Given the description of an element on the screen output the (x, y) to click on. 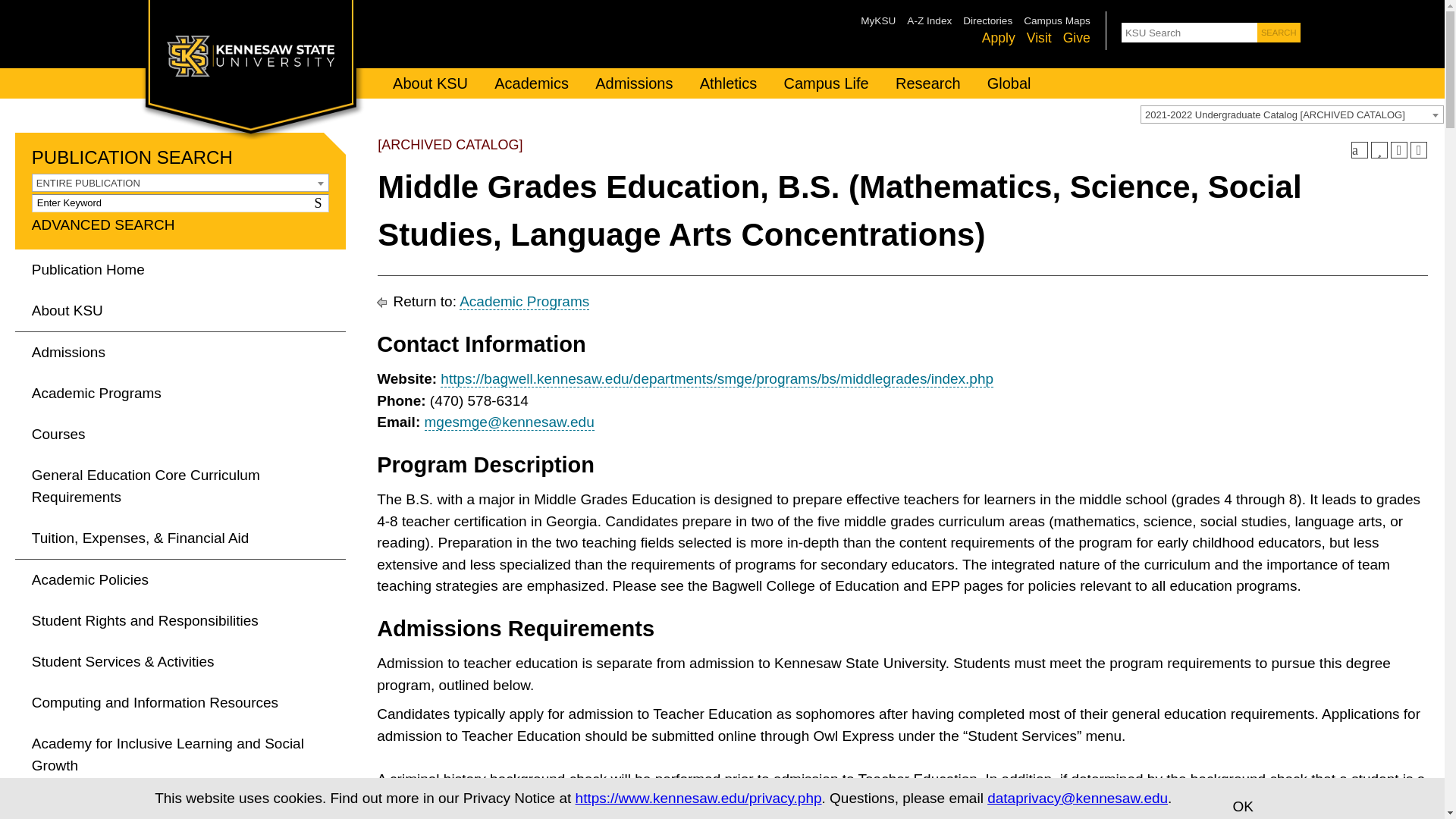
A-Z Index (929, 20)
Entire Publication (180, 183)
Academic Programs (180, 393)
Directories (986, 20)
Research (928, 82)
About KSU (429, 82)
Select a Publication (1292, 114)
ADVANCED SEARCH (103, 224)
Apply (997, 37)
SEARCH (1278, 32)
Academics (531, 82)
Global (1008, 82)
